Given the description of an element on the screen output the (x, y) to click on. 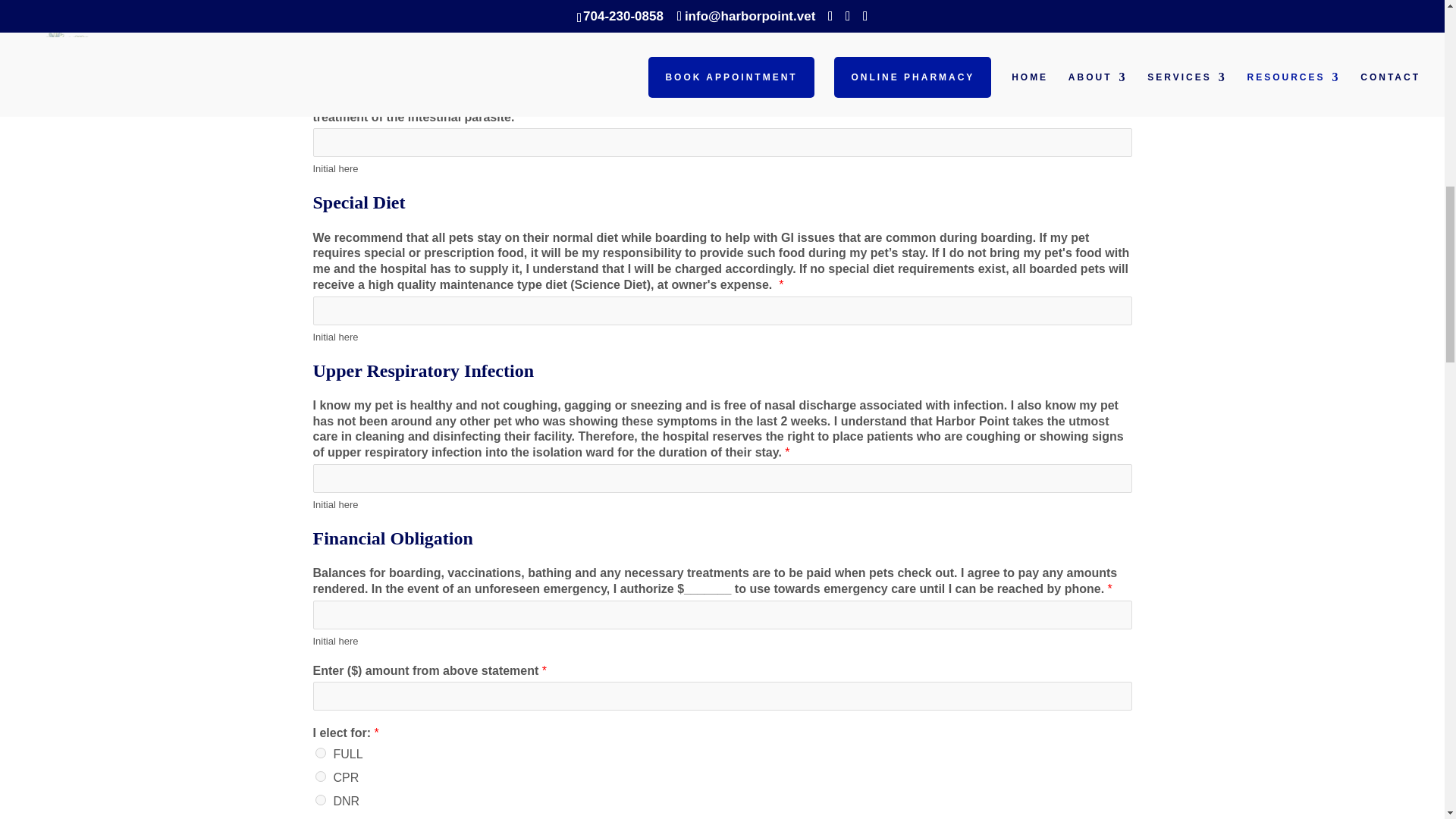
FULL (320, 752)
CPR (320, 776)
DNR (320, 799)
